Given the description of an element on the screen output the (x, y) to click on. 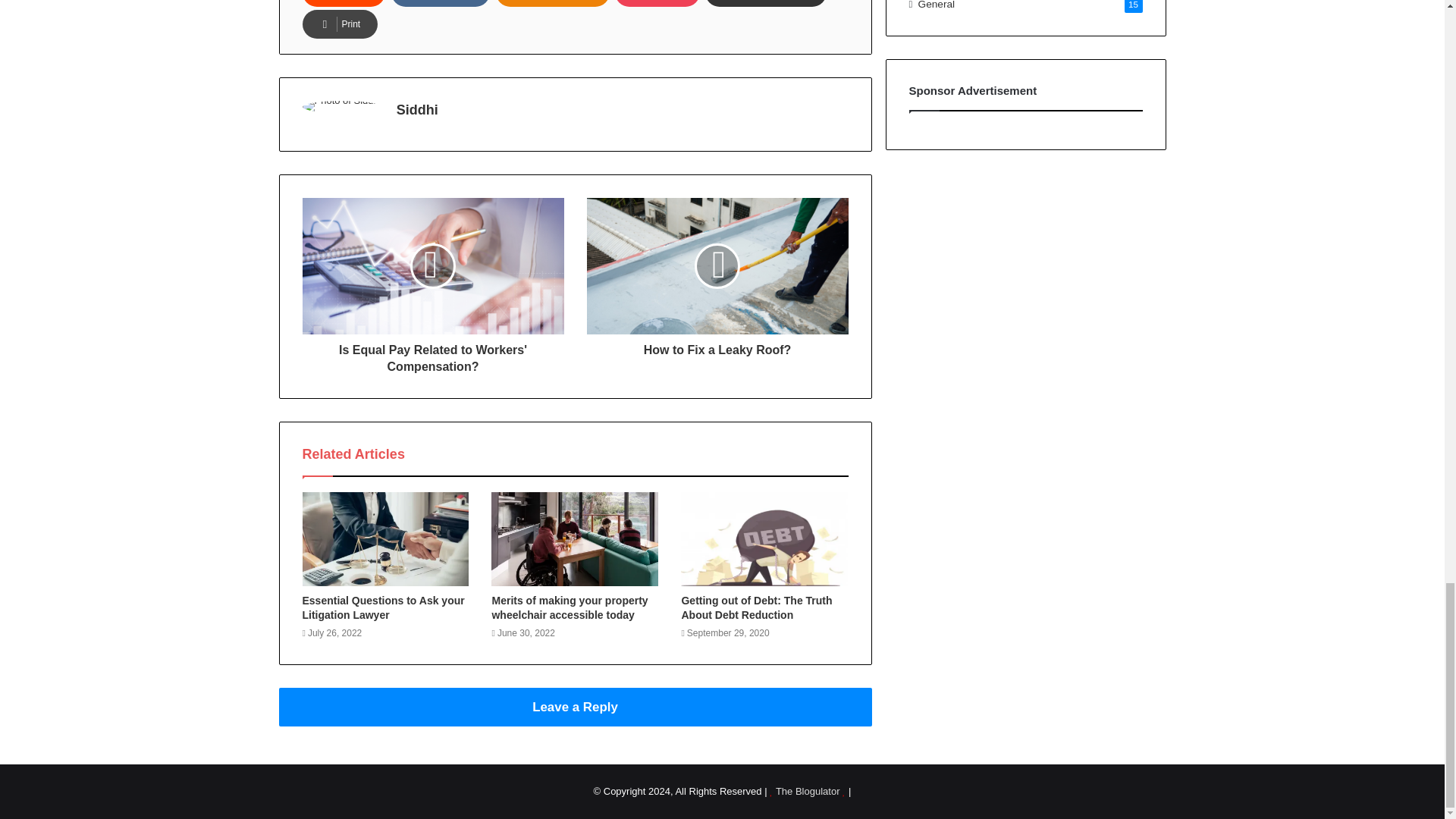
Reddit (343, 3)
VKontakte (440, 3)
